Given the description of an element on the screen output the (x, y) to click on. 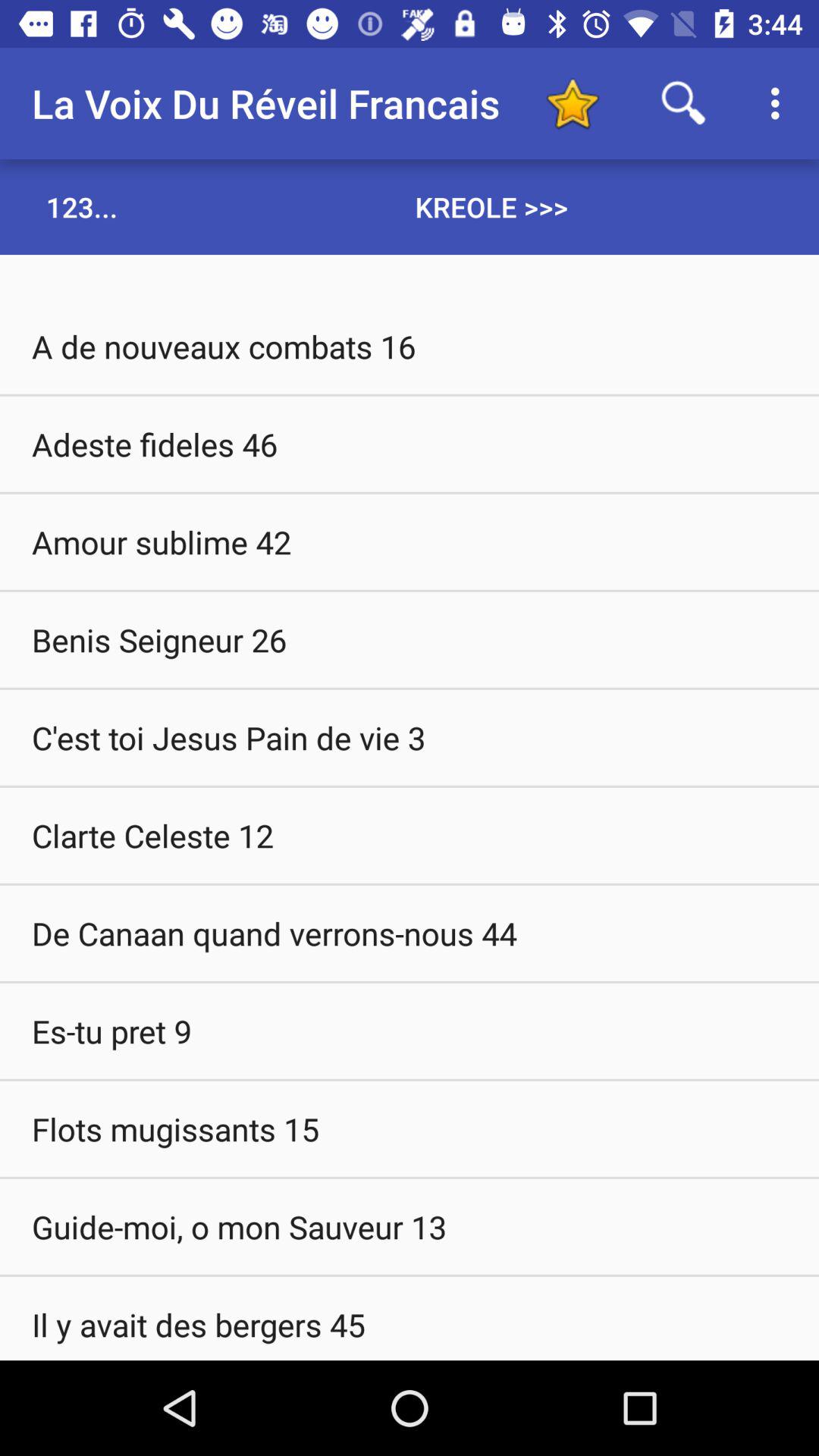
turn off the item above clarte celeste 12 (409, 737)
